Given the description of an element on the screen output the (x, y) to click on. 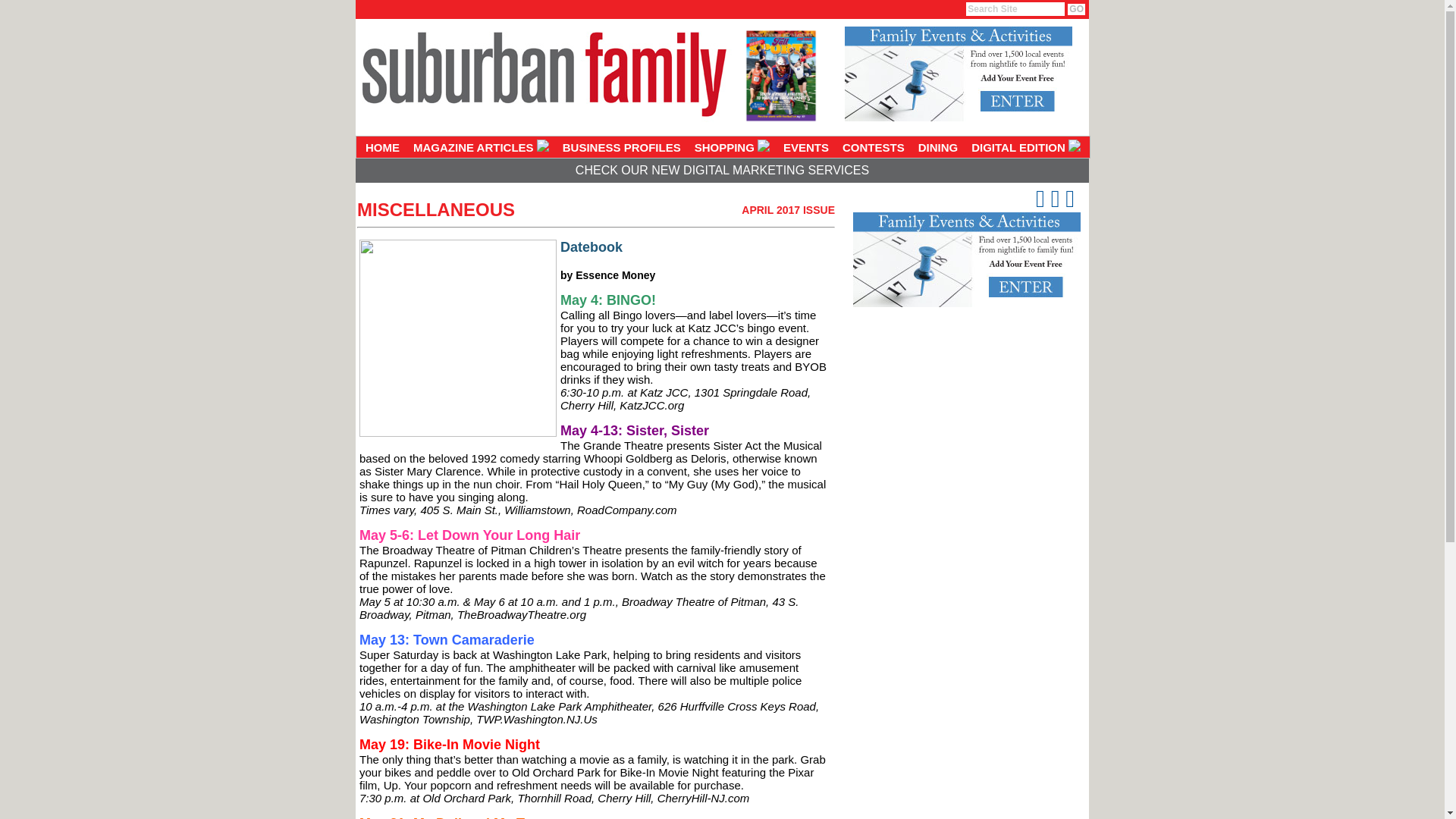
GO (1075, 9)
DINING (937, 147)
DIGITAL EDITION (1026, 147)
MISCELLANEOUS (435, 209)
Search Site (1015, 8)
GO (1075, 9)
HOME (381, 147)
CONTESTS (873, 147)
BUSINESS PROFILES (621, 147)
EVENTS (805, 147)
